Given the description of an element on the screen output the (x, y) to click on. 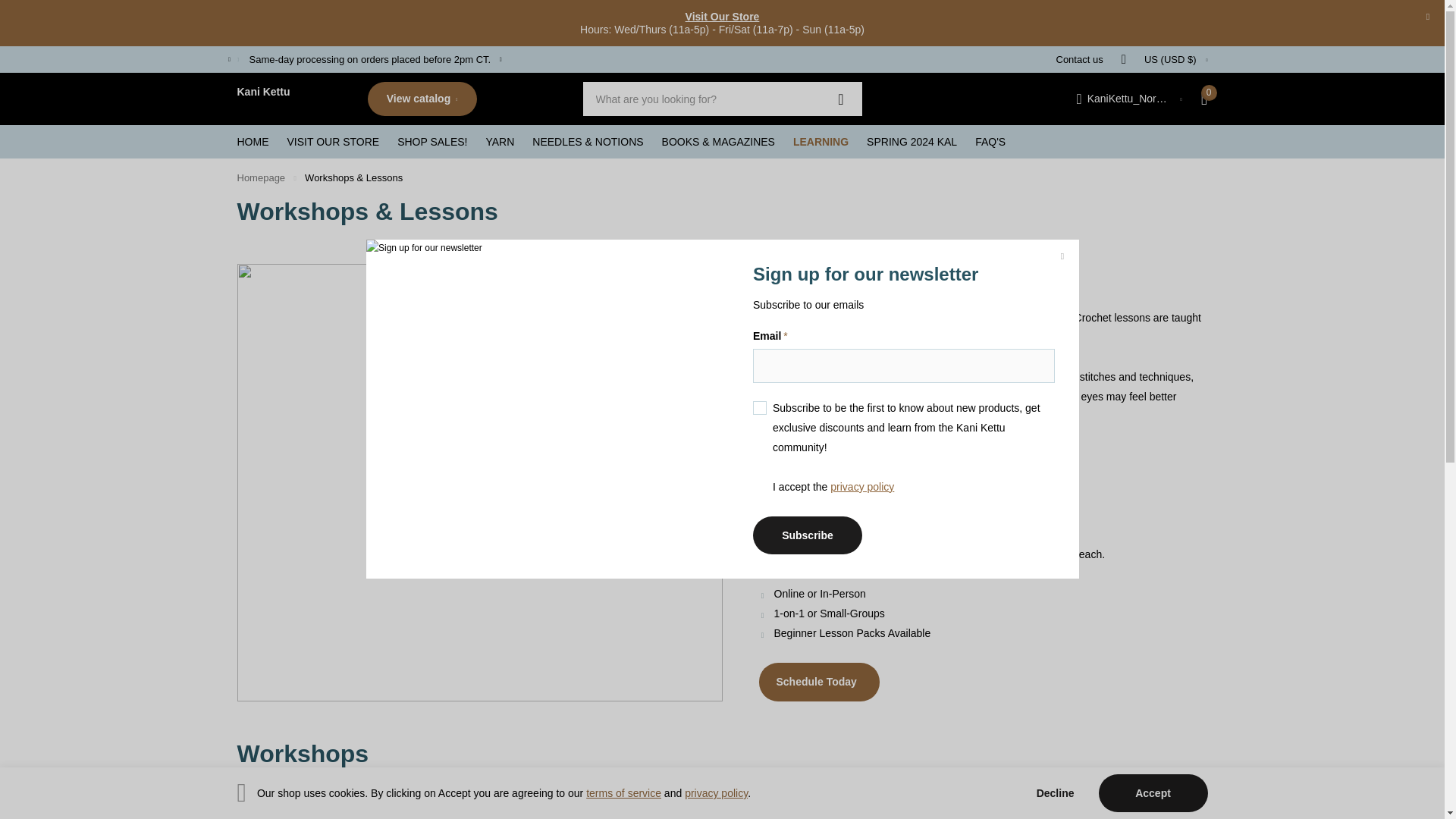
Close (1427, 16)
Privacy Policy (716, 793)
Terms of Service (623, 793)
Contact us (1078, 58)
Privacy Policy (861, 486)
Home (260, 177)
Visit Our Store (722, 16)
